Given the description of an element on the screen output the (x, y) to click on. 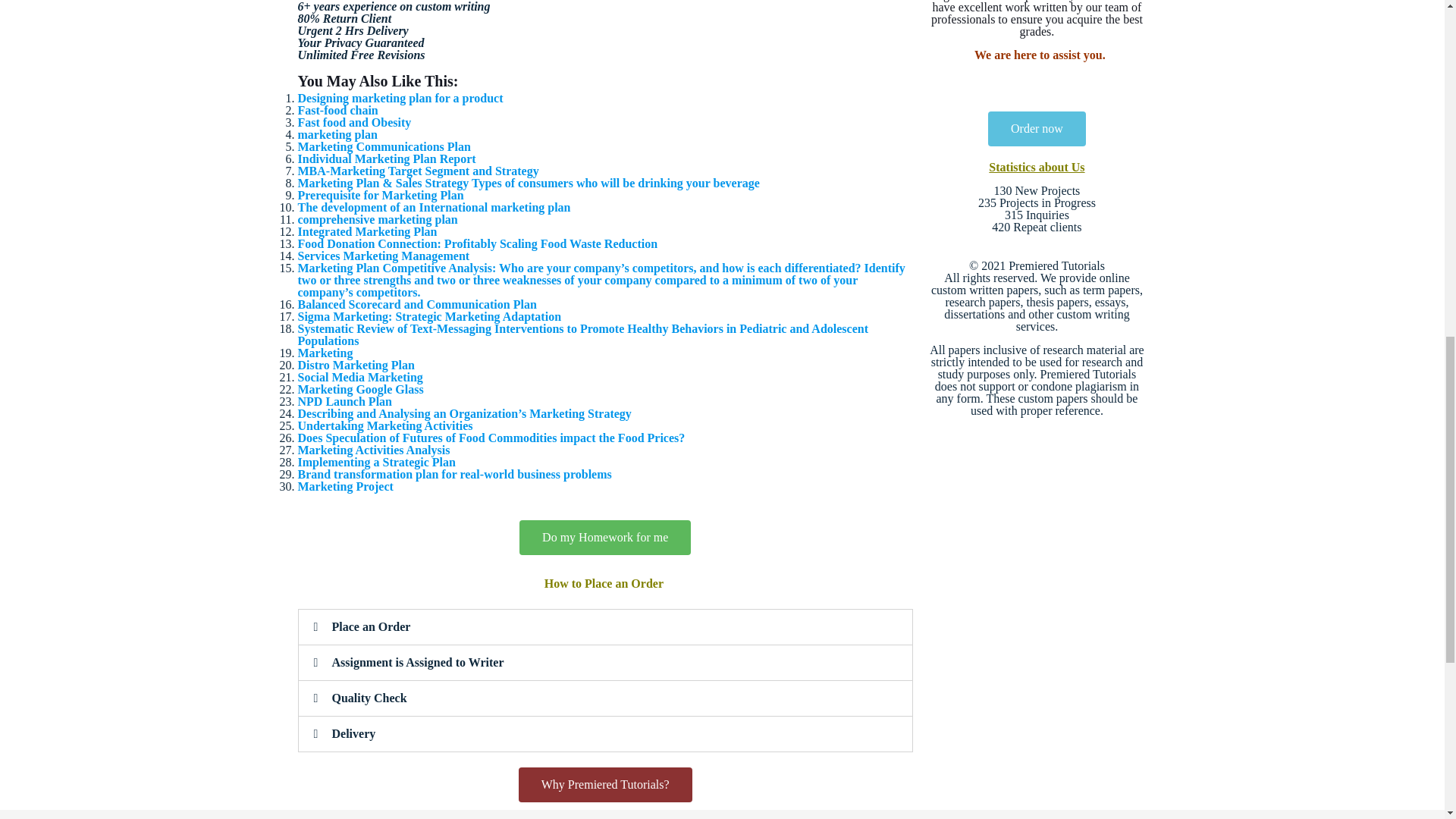
Integrated Marketing Plan (366, 231)
Fast food and Obesity (353, 122)
Services Marketing Management (382, 255)
Sigma Marketing: Strategic Marketing Adaptation (428, 316)
Marketing (324, 352)
The development of an International marketing plan (433, 206)
Prerequisite for Marketing Plan (380, 195)
comprehensive marketing plan (377, 219)
NPD Launch Plan (344, 400)
